Given the description of an element on the screen output the (x, y) to click on. 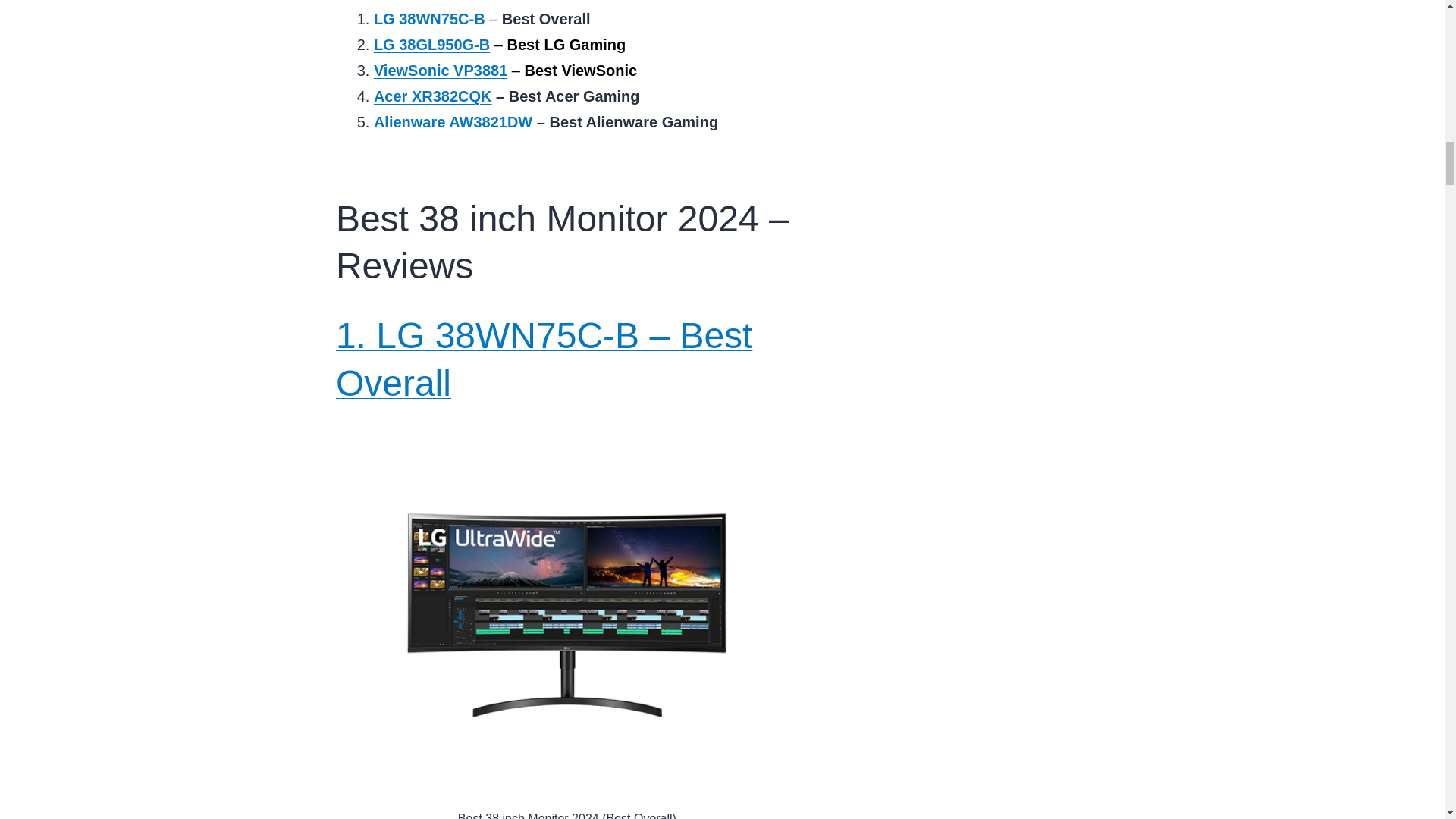
Acer XR382CQK (433, 95)
LG 38GL950G-B (431, 44)
Alienware AW3821DW (453, 121)
LG 38WN75C-B (429, 18)
ViewSonic VP3881 (440, 70)
